Given the description of an element on the screen output the (x, y) to click on. 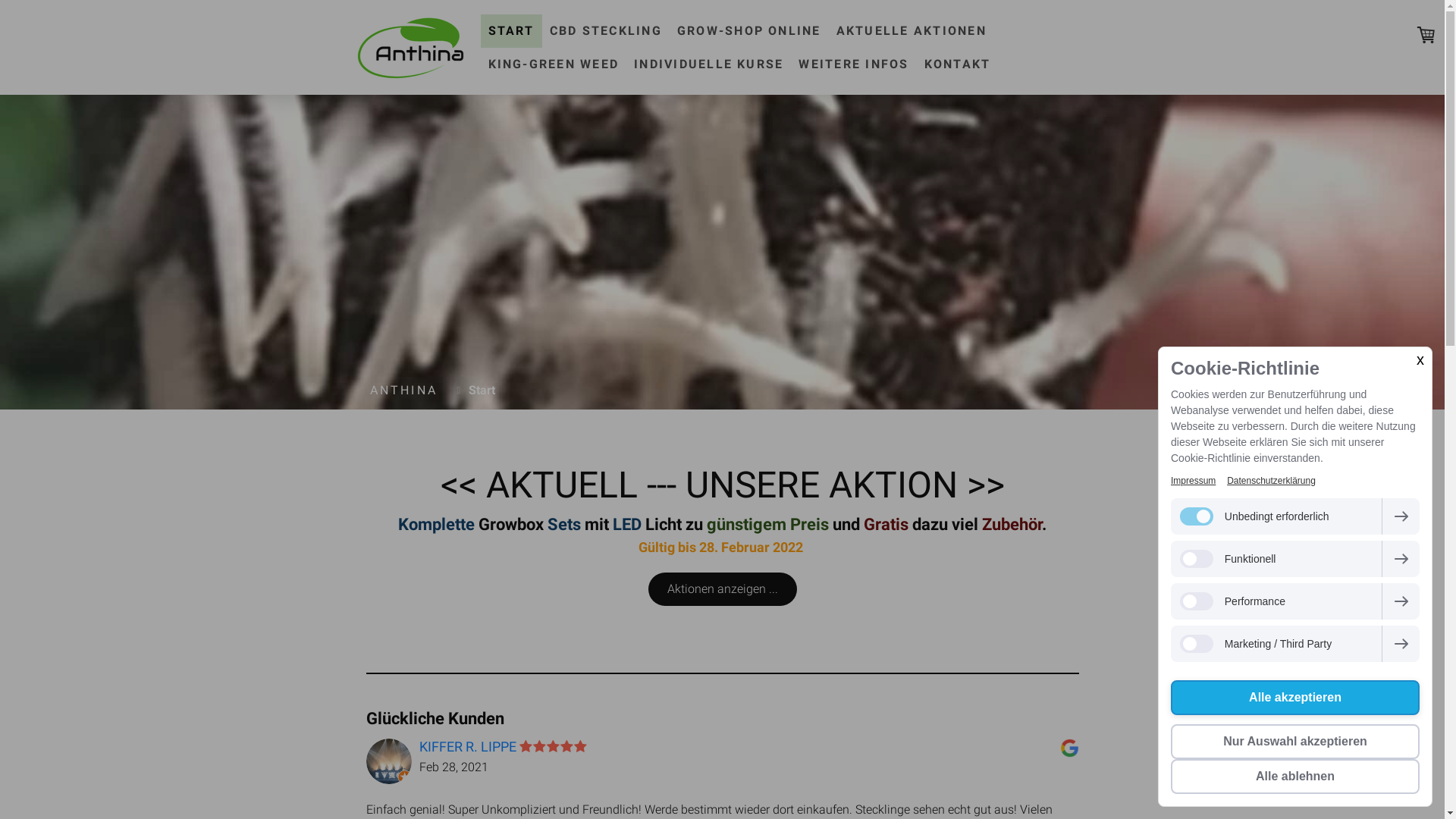
GROW-SHOP ONLINE Element type: text (748, 30)
KING-GREEN WEED Element type: text (553, 63)
CBD STECKLING Element type: text (605, 30)
Alle akzeptieren Element type: text (1294, 697)
AKTUELLE AKTIONEN Element type: text (911, 30)
Start Element type: text (477, 390)
INDIVIDUELLE KURSE Element type: text (708, 63)
Nur Auswahl akzeptieren Element type: text (1294, 741)
ANTHINA Element type: text (404, 390)
WEITERE INFOS Element type: text (853, 63)
Aktionen anzeigen ... Element type: text (721, 588)
Alle ablehnen Element type: text (1294, 776)
KONTAKT Element type: text (957, 63)
Impressum Element type: text (1192, 480)
START Element type: text (511, 30)
